Given the description of an element on the screen output the (x, y) to click on. 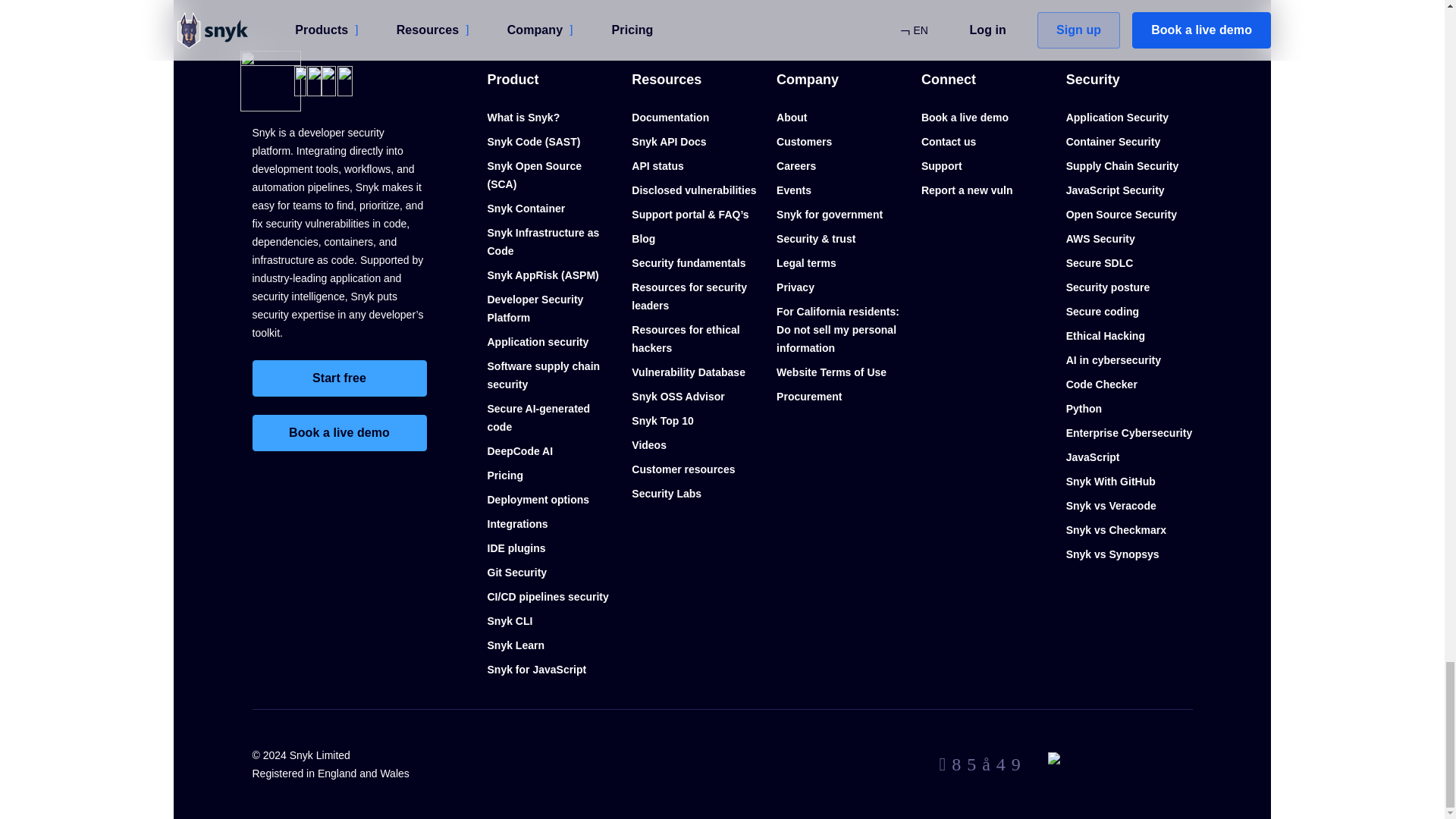
Book a live demo (338, 432)
Start free (338, 378)
